Given the description of an element on the screen output the (x, y) to click on. 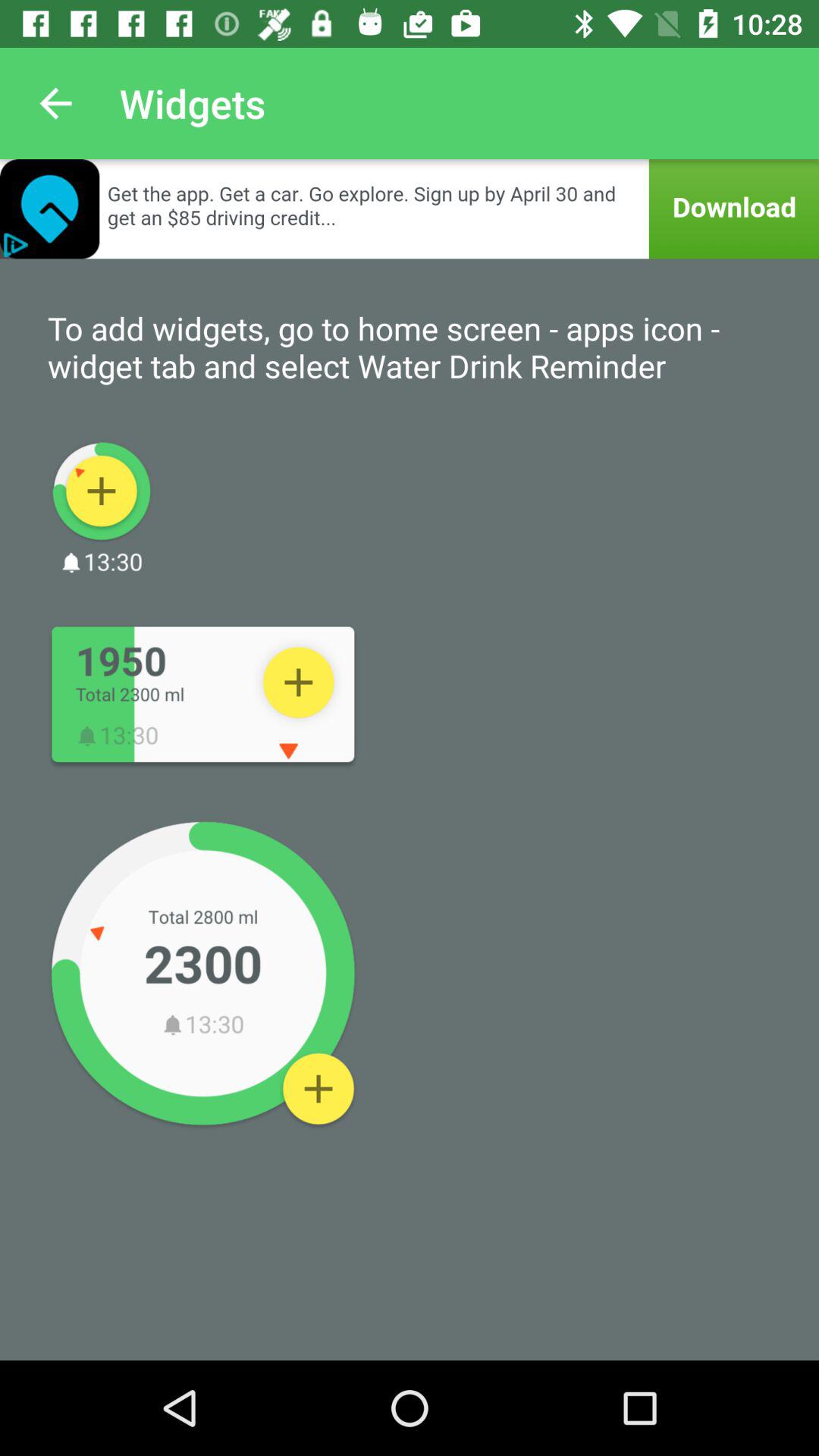
download advertised app (409, 208)
